Given the description of an element on the screen output the (x, y) to click on. 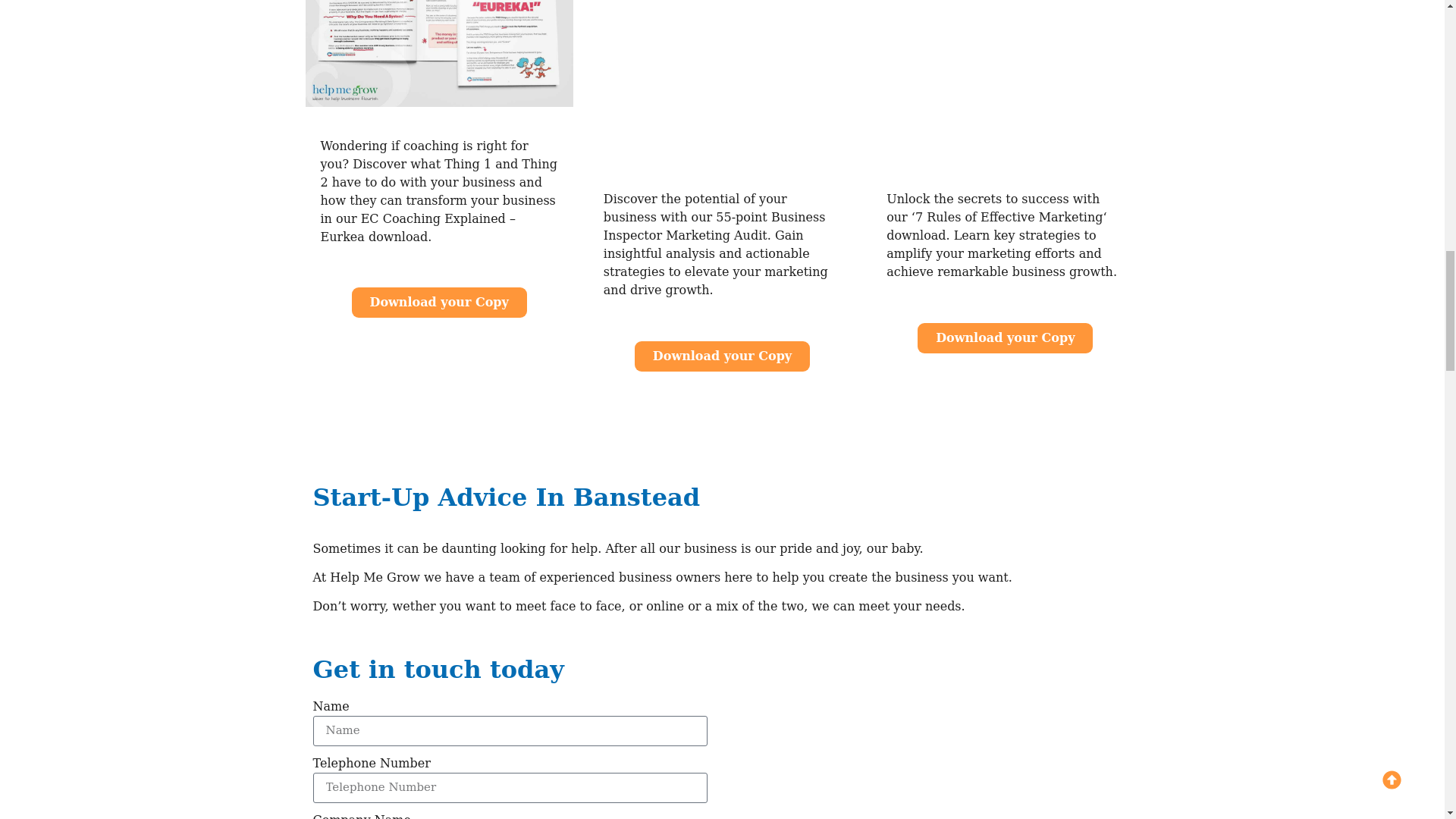
Download your Copy (439, 302)
Download your Copy (1005, 337)
Download your Copy (721, 356)
